Given the description of an element on the screen output the (x, y) to click on. 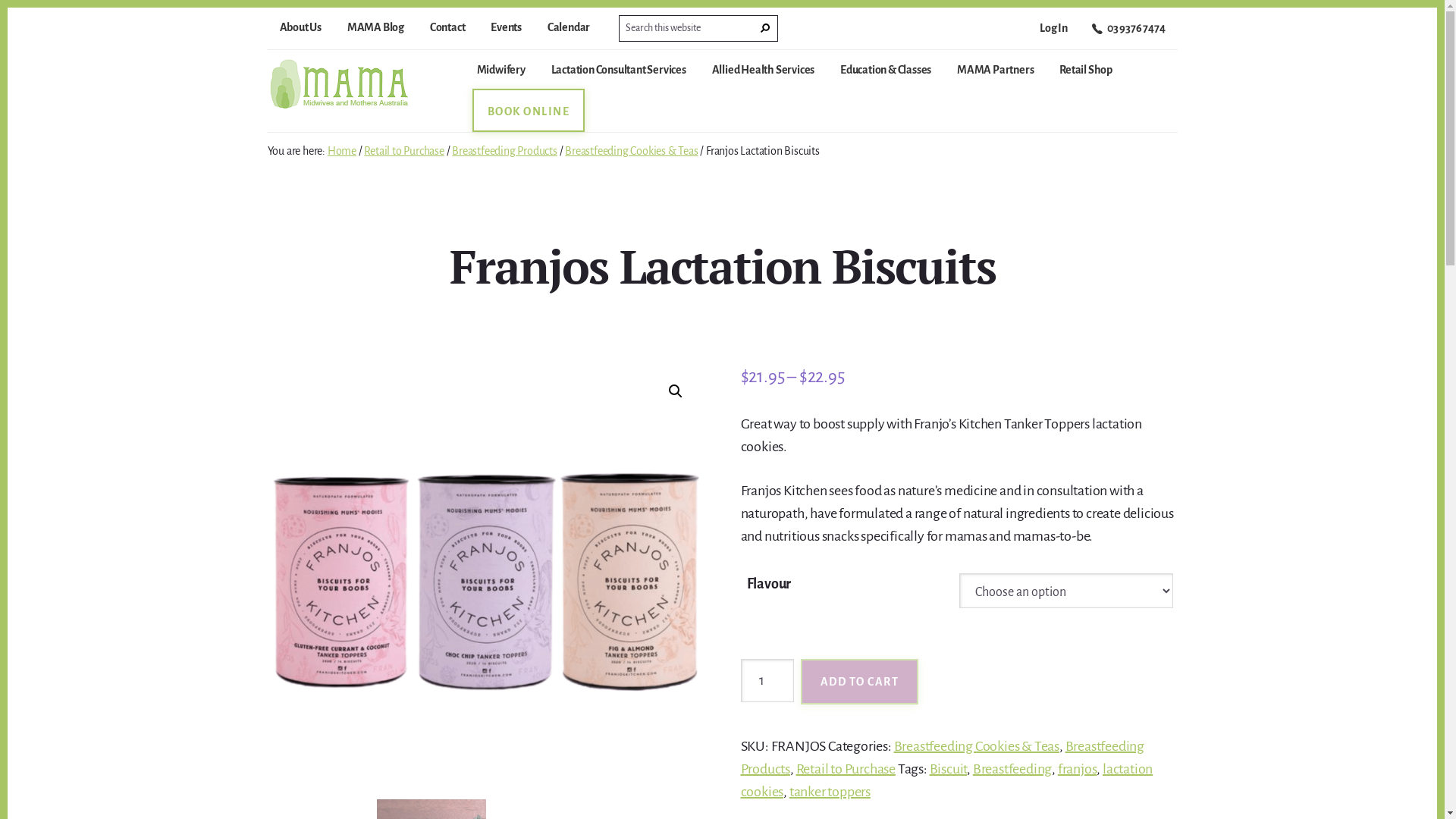
Skip to content Element type: text (7, 7)
Home Element type: text (341, 150)
ADD TO CART Element type: text (859, 681)
Lactation Consultant Services Element type: text (618, 75)
SEARCH Element type: text (765, 27)
Education & Classes Element type: text (885, 75)
Breastfeeding Cookies & Teas Element type: text (976, 745)
Breastfeeding Element type: text (1011, 768)
Contact Element type: text (447, 30)
About Us Element type: text (299, 30)
Calendar Element type: text (568, 30)
Breastfeeding Products Element type: text (504, 150)
tanker toppers Element type: text (829, 791)
Retail to Purchase Element type: text (845, 768)
Retail to Purchase Element type: text (403, 150)
MAMA Blog Element type: text (375, 30)
lactation cookies Element type: text (946, 780)
Midwifery Element type: text (500, 75)
03 9376 7474 Element type: text (1127, 32)
Log In Element type: text (1053, 30)
BOOK ONLINE Element type: text (527, 117)
Breastfeeding Products Element type: text (941, 757)
Breastfeeding Cookies & Teas Element type: text (630, 150)
Retail Shop Element type: text (1085, 75)
franjos Element type: text (1077, 768)
Events Element type: text (505, 30)
Allied Health Services Element type: text (763, 75)
MAMA Partners Element type: text (994, 75)
Biscuit Element type: text (948, 768)
